Given the description of an element on the screen output the (x, y) to click on. 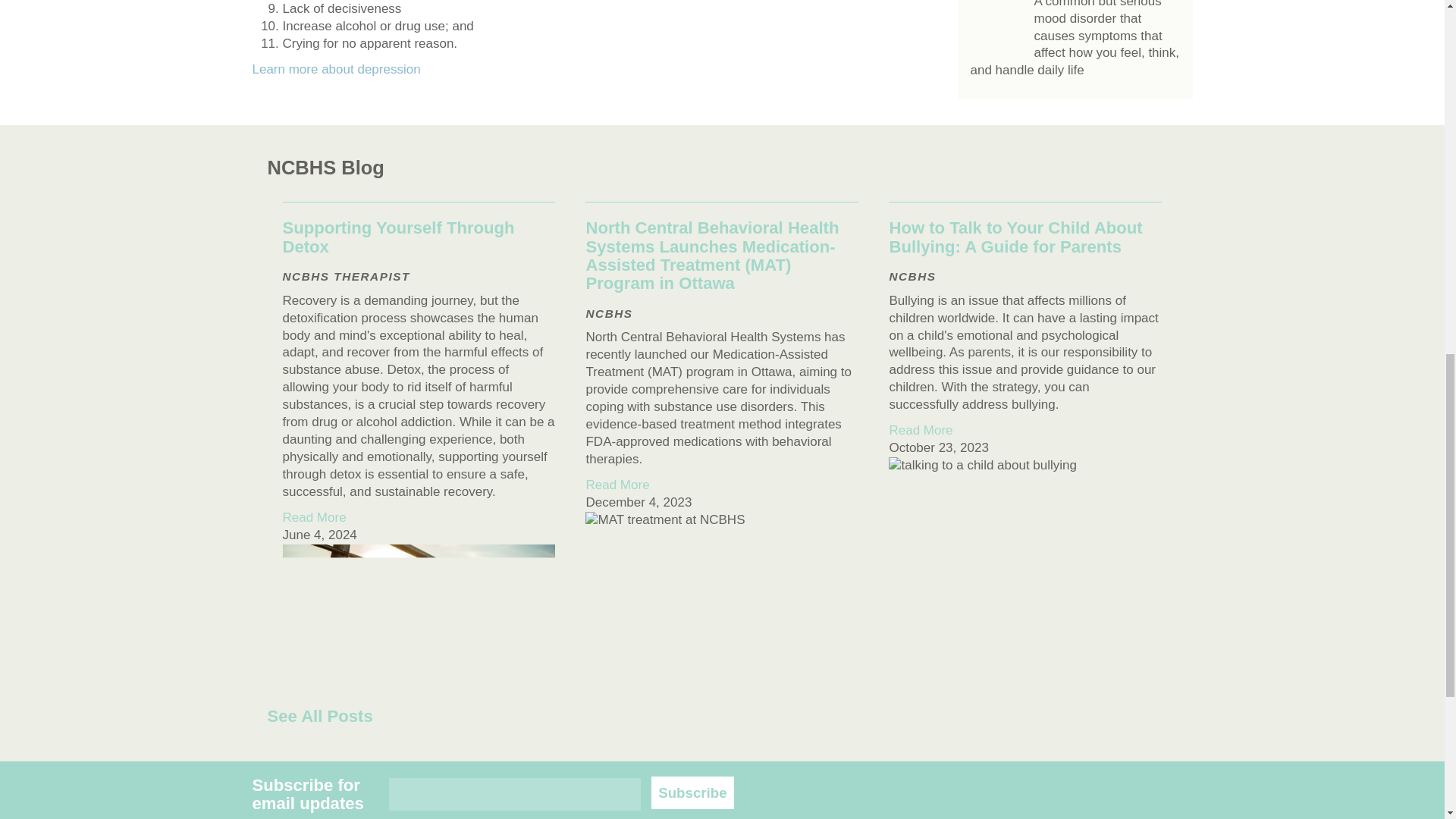
Subscribe (691, 792)
